Given the description of an element on the screen output the (x, y) to click on. 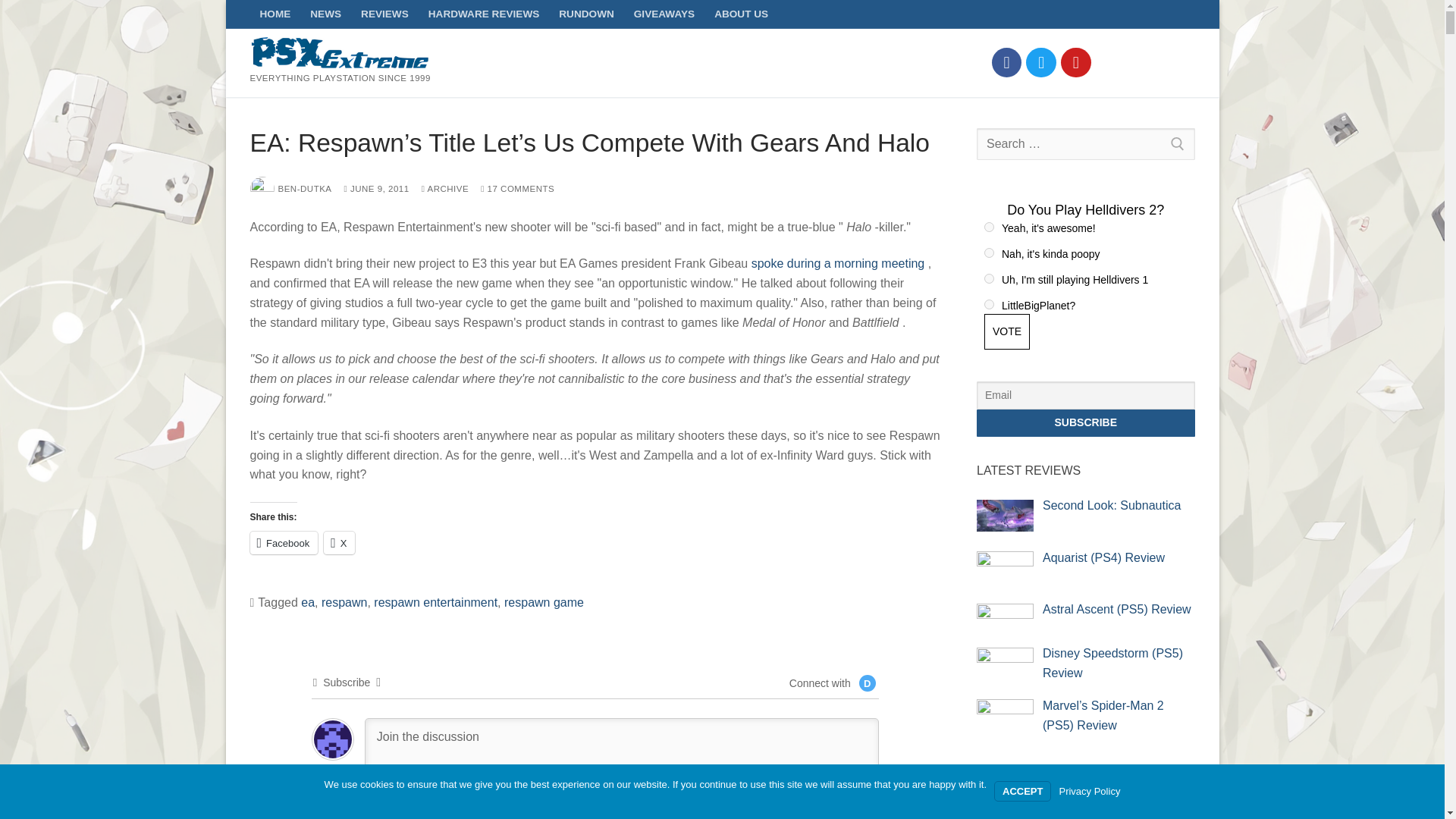
respawn game (543, 602)
HARDWARE REVIEWS (484, 14)
18 (989, 304)
HOME (275, 14)
X (339, 542)
14 (989, 226)
RUNDOWN (586, 14)
Facebook (1006, 62)
Subscribe (1085, 422)
NEWS (324, 14)
15 (989, 252)
Click to share on X (339, 542)
16 (989, 278)
respawn entertainment (435, 602)
ea (307, 602)
